Given the description of an element on the screen output the (x, y) to click on. 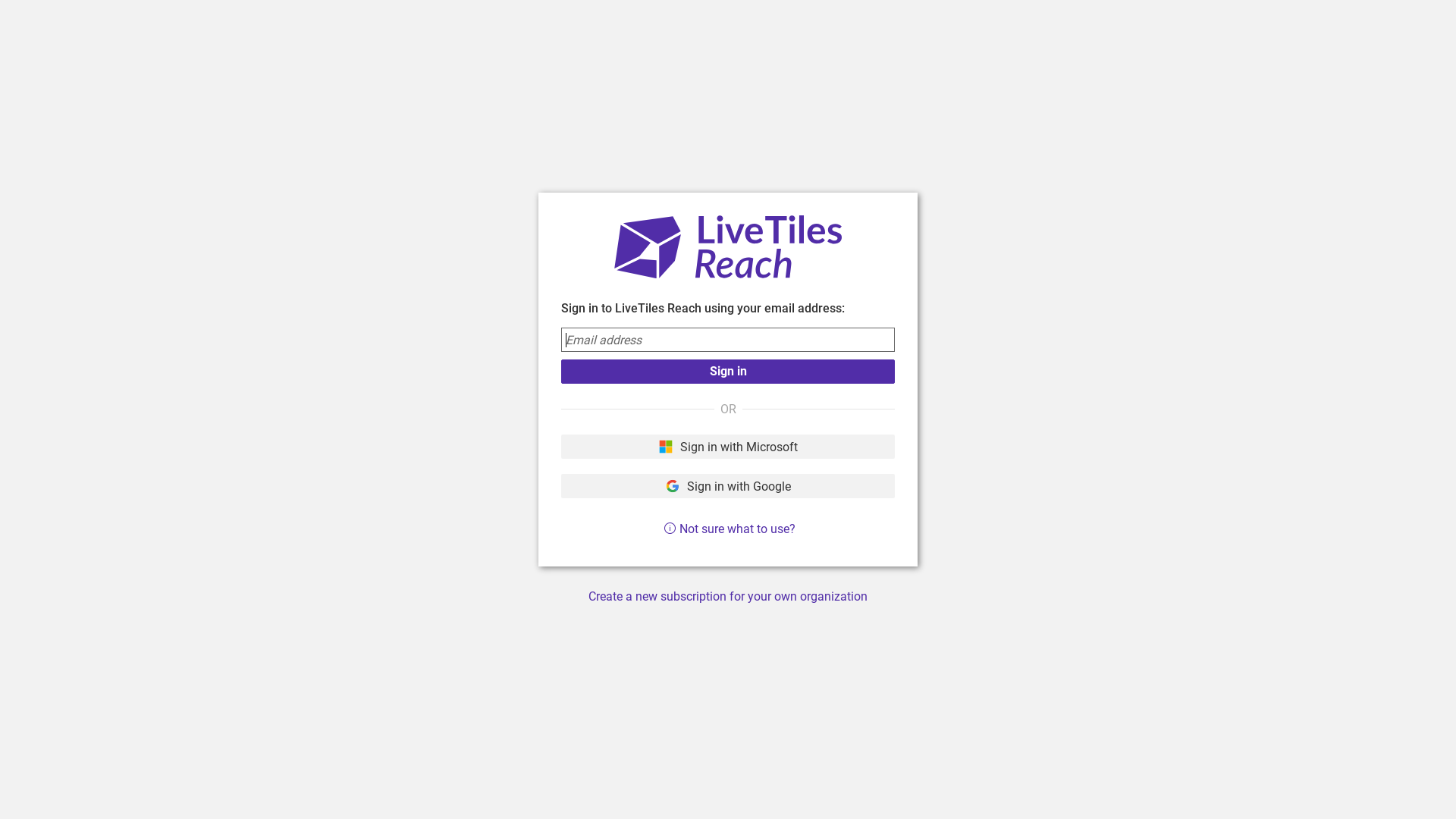
Sign in with Microsoft Element type: text (727, 446)
Sign in with Google Element type: text (727, 485)
Sign in Element type: text (727, 371)
Create a new subscription for your own organization Element type: text (727, 596)
